Given the description of an element on the screen output the (x, y) to click on. 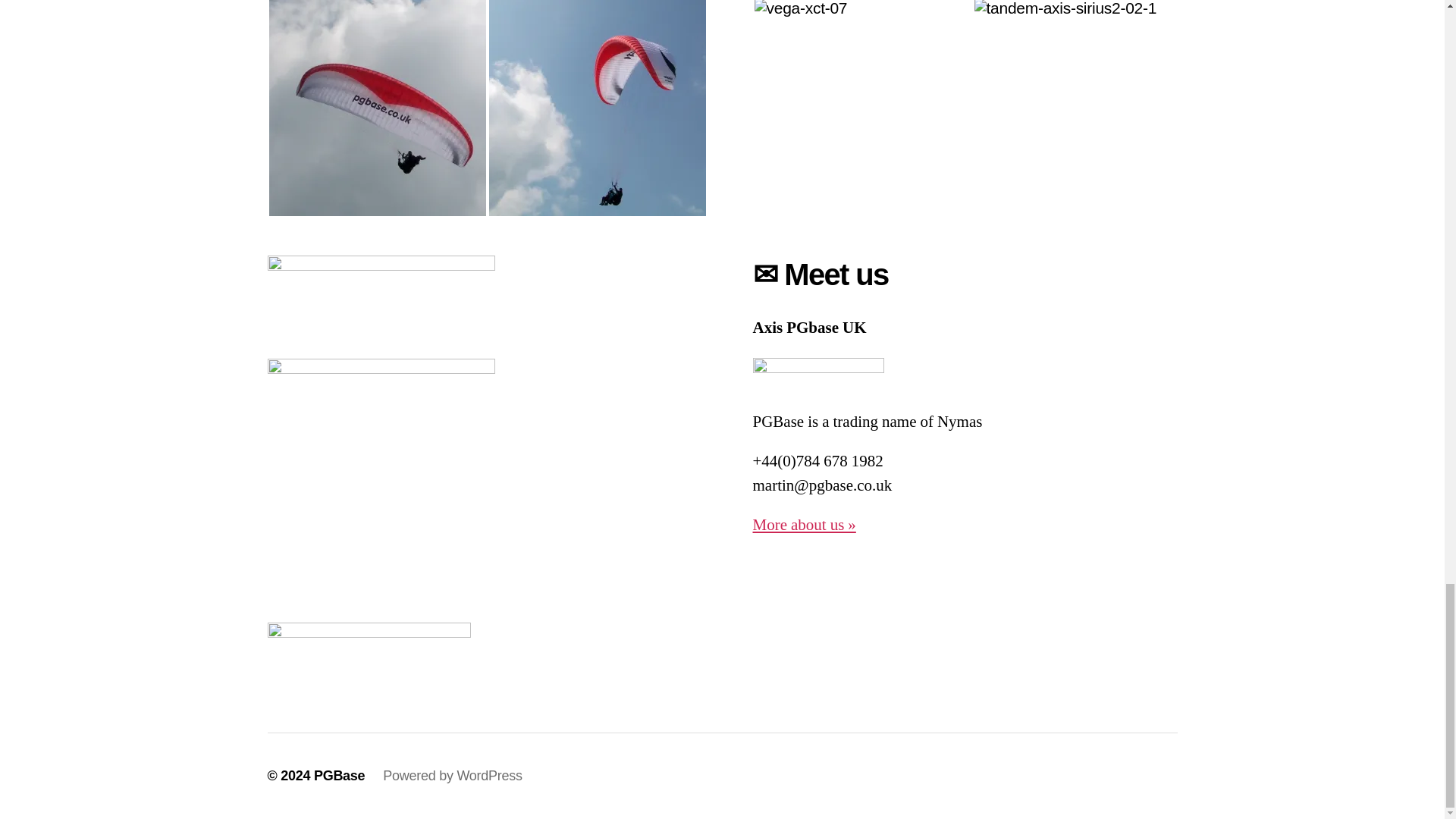
Powered by WordPress (451, 775)
tandem-axis-sirius2-02-1 (1082, 108)
IMGP7699 (595, 108)
pgbase-glider (375, 108)
PGBase (339, 775)
vega-xct-07 (862, 108)
Contact Us (804, 525)
